Given the description of an element on the screen output the (x, y) to click on. 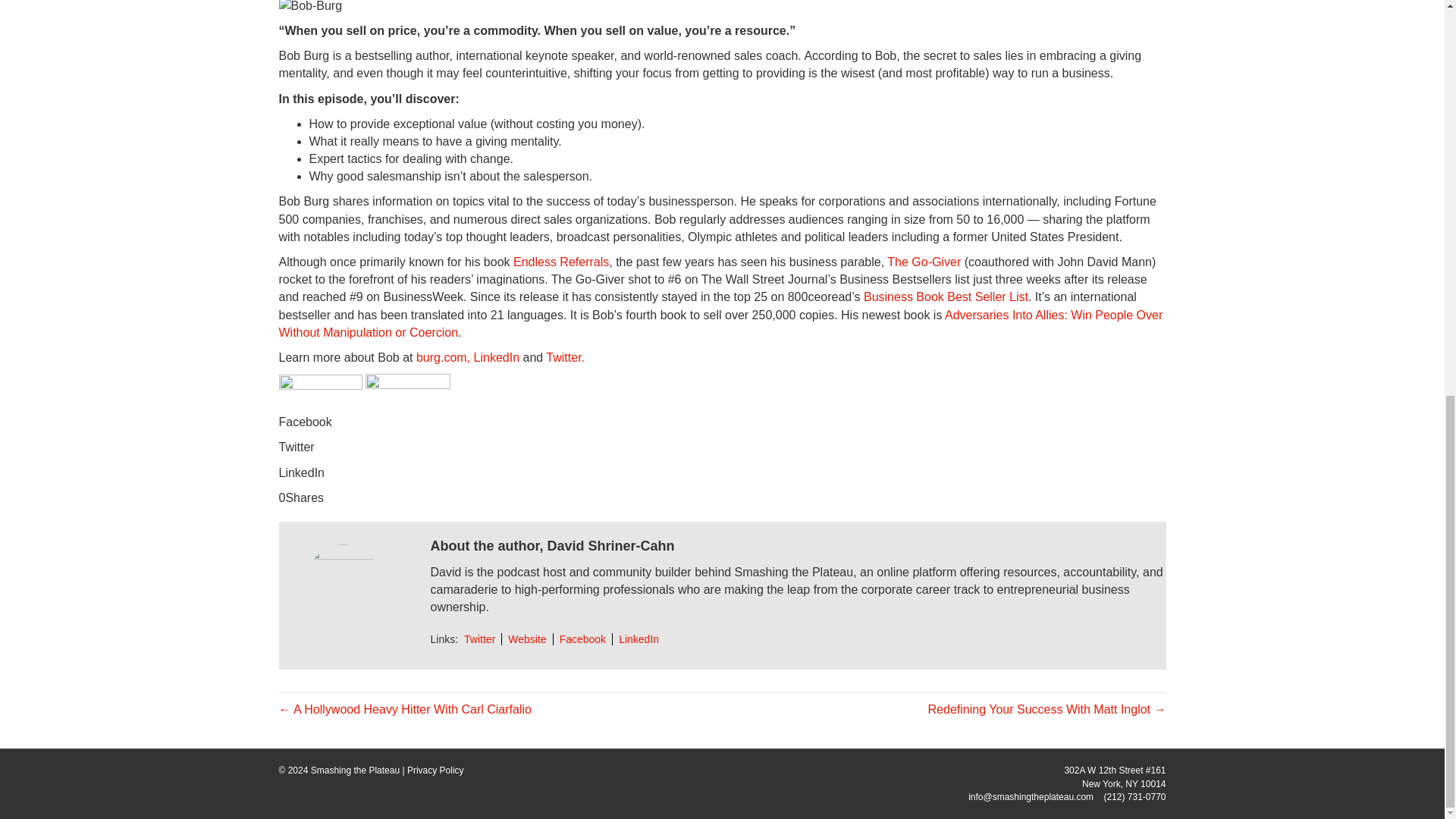
Facebook (582, 639)
Privacy Policy (435, 769)
Business Book Best Seller List (945, 296)
Twitter (479, 639)
Endless Referrals (560, 261)
Twitter. (565, 357)
LinkedIn (638, 639)
LinkedIn (496, 357)
The Go-Giver (923, 261)
burg.com, (443, 357)
Website (525, 639)
